Given the description of an element on the screen output the (x, y) to click on. 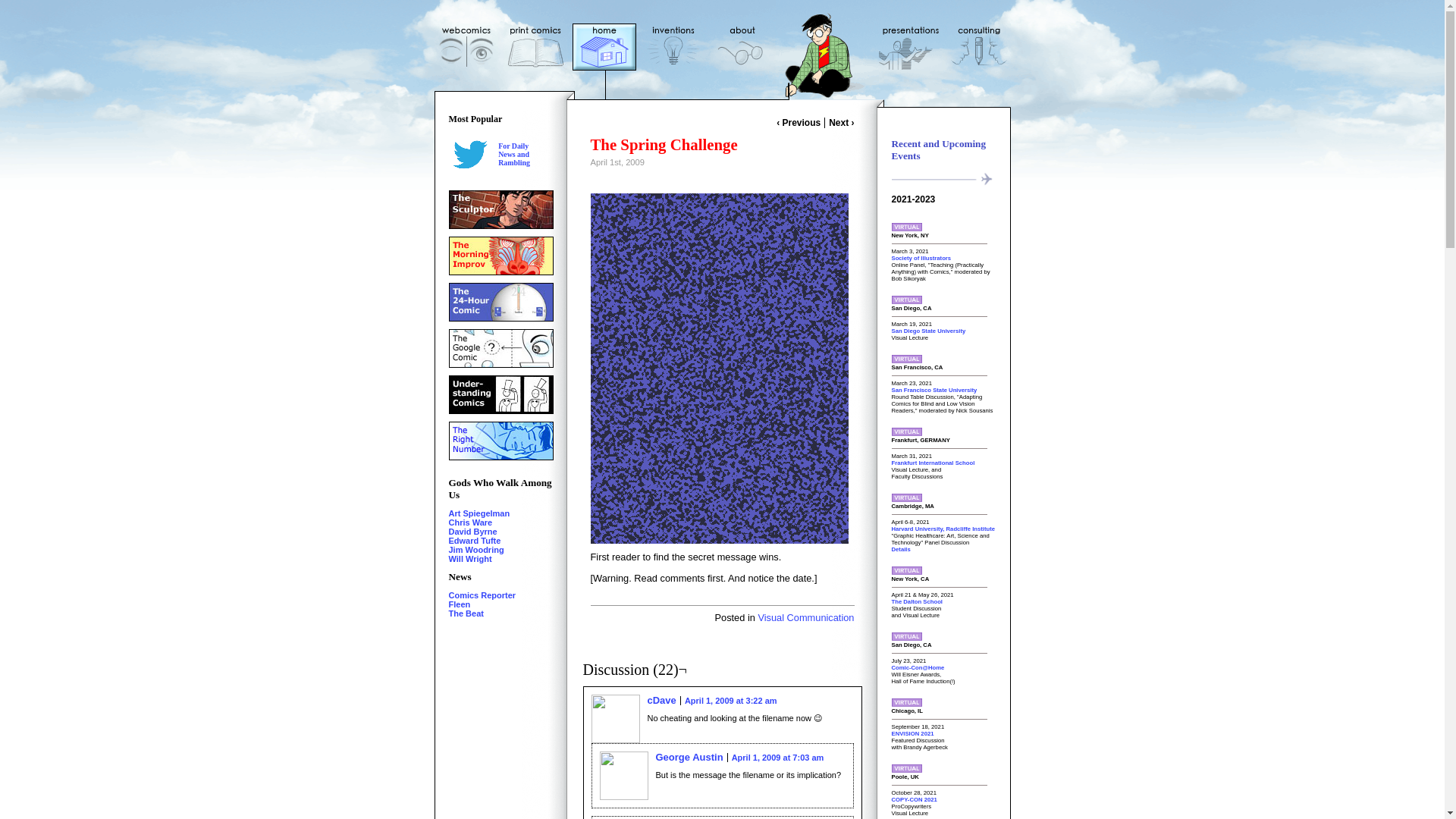
Edward Tufte (474, 540)
Jim Woodring (475, 549)
Visual Communication (513, 153)
David Byrne (805, 617)
April 1, 2009 at 7:03 am (472, 531)
Art Spiegelman (778, 757)
Comics Reporter (479, 512)
Fleen (482, 594)
Will Wright (459, 604)
